Given the description of an element on the screen output the (x, y) to click on. 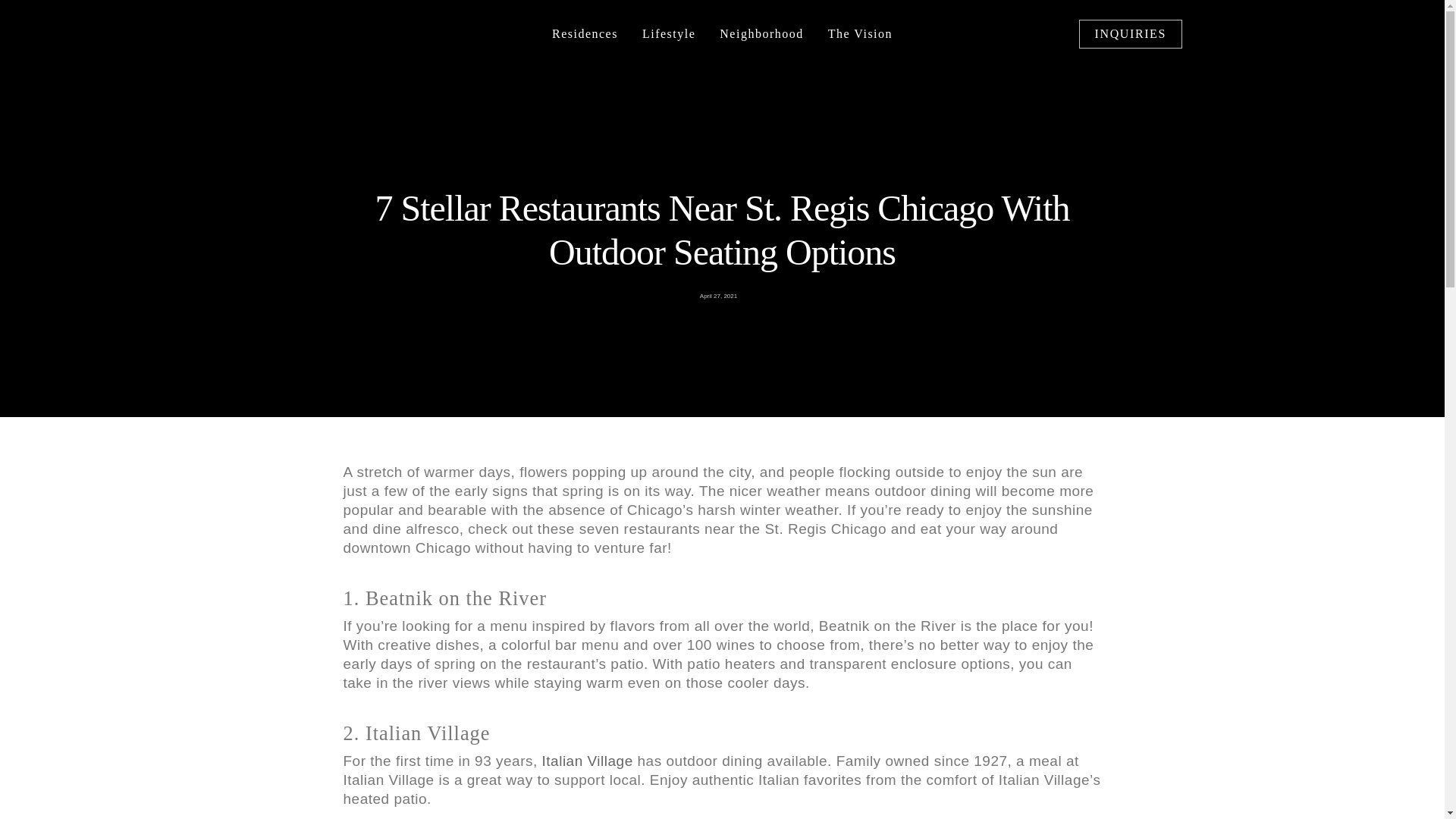
Neighborhood (761, 32)
INQUIRIES (1130, 33)
Lifestyle (668, 32)
The Vision (859, 32)
Residences (585, 32)
